Given the description of an element on the screen output the (x, y) to click on. 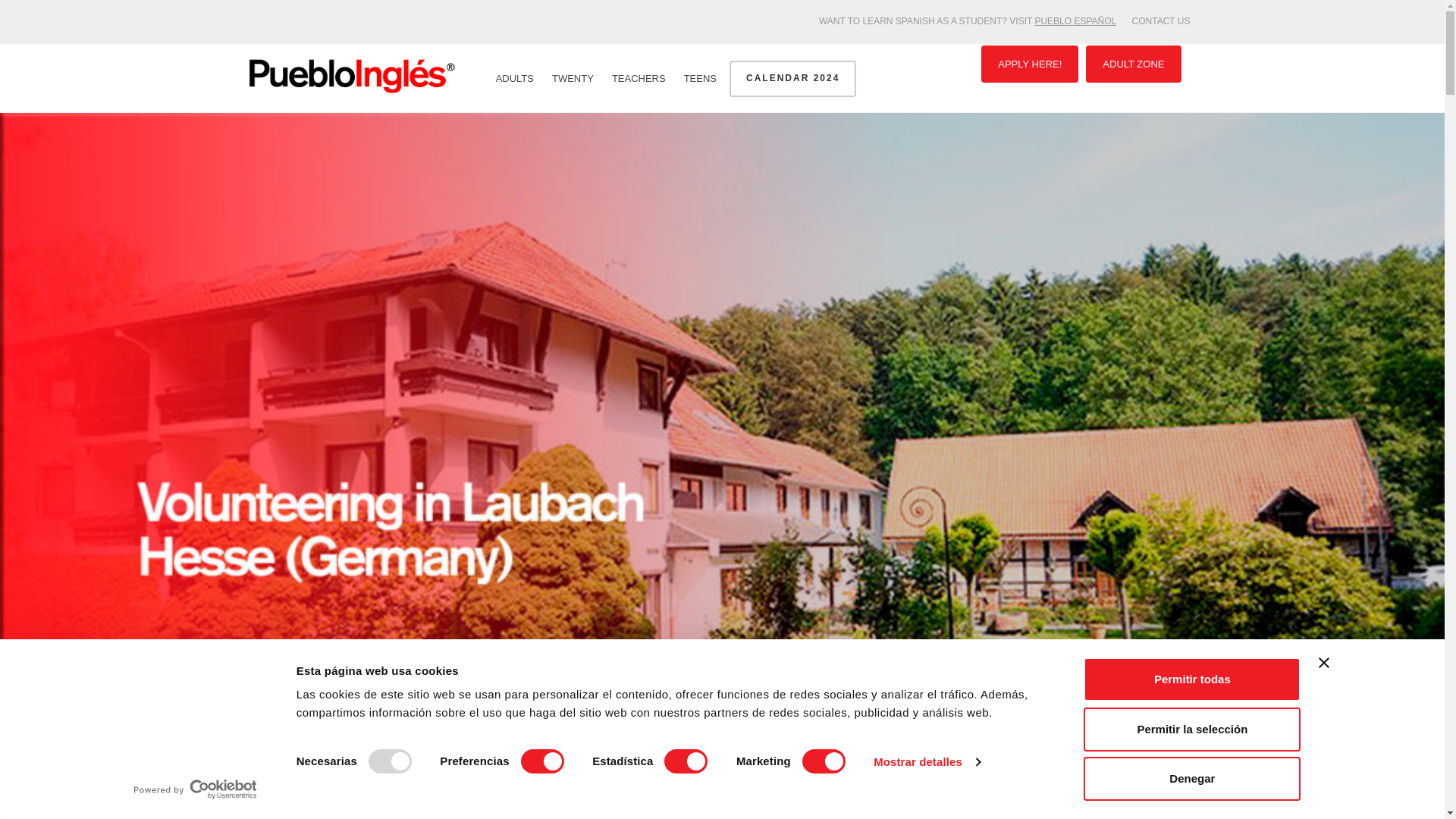
Mostrar detalles (926, 762)
TEACHERS (638, 78)
Permitir todas (1191, 679)
TWENTY (572, 78)
CONTACT US (1160, 21)
CALENDAR 2024 (792, 78)
TEENS (700, 78)
APPLY HERE! (1029, 63)
Denegar (1191, 778)
CONTACT US (1160, 21)
ADULT ZONE (1133, 63)
ADULTS (515, 78)
